Given the description of an element on the screen output the (x, y) to click on. 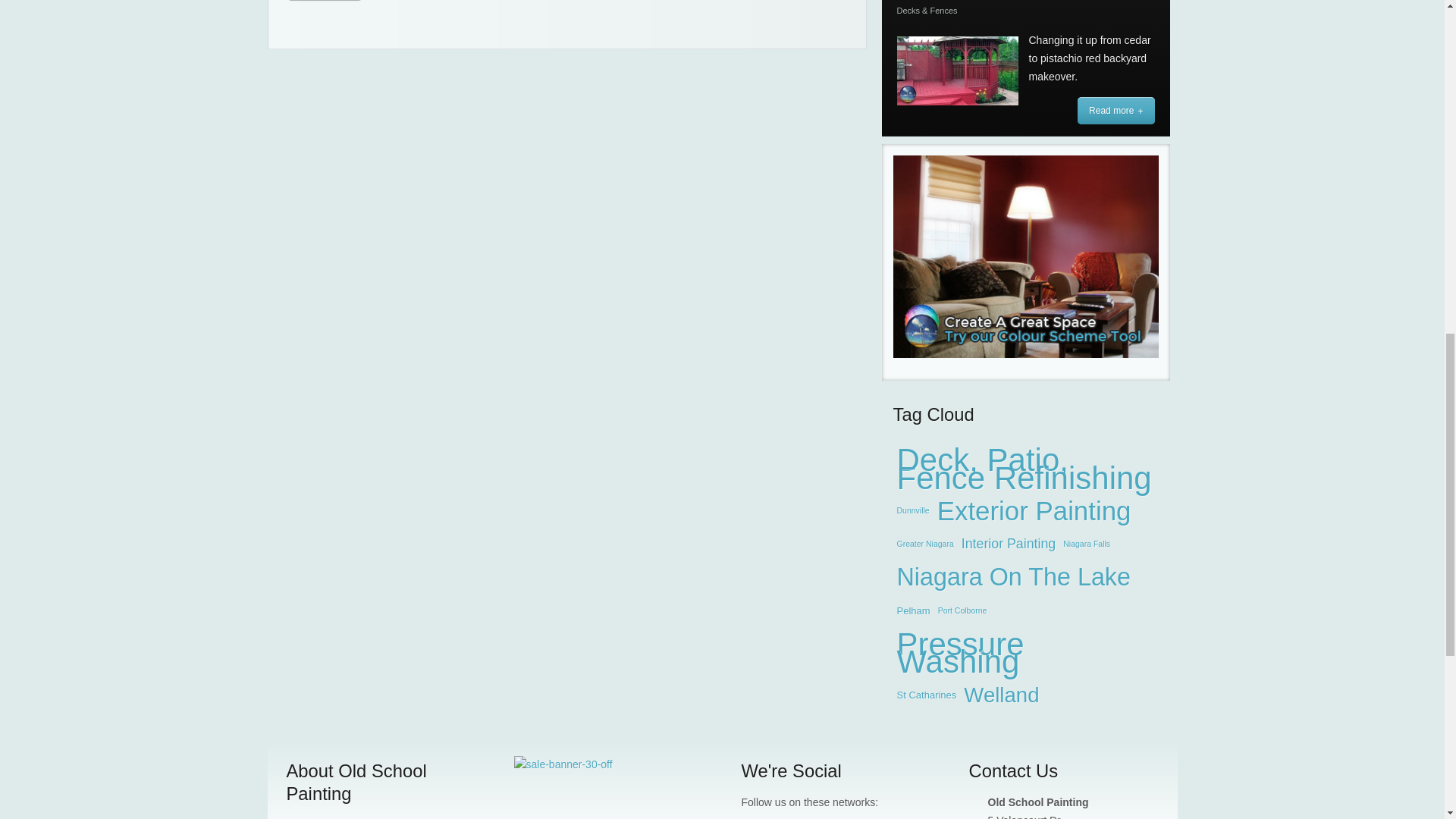
1 items tagged with Dunnville (913, 510)
4 items tagged with Interior Painting (1008, 544)
14 items tagged with Pressure Washing (1025, 653)
1 items tagged with Greater Niagara (925, 544)
Deck, Patio, Fence Refinishing (1025, 469)
8 items tagged with Welland (1000, 694)
2 items tagged with St Catharines (926, 694)
10 items tagged with Niagara On The Lake (1014, 577)
2 items tagged with Pelham (913, 611)
1 items tagged with Niagara Falls (1086, 544)
